Given the description of an element on the screen output the (x, y) to click on. 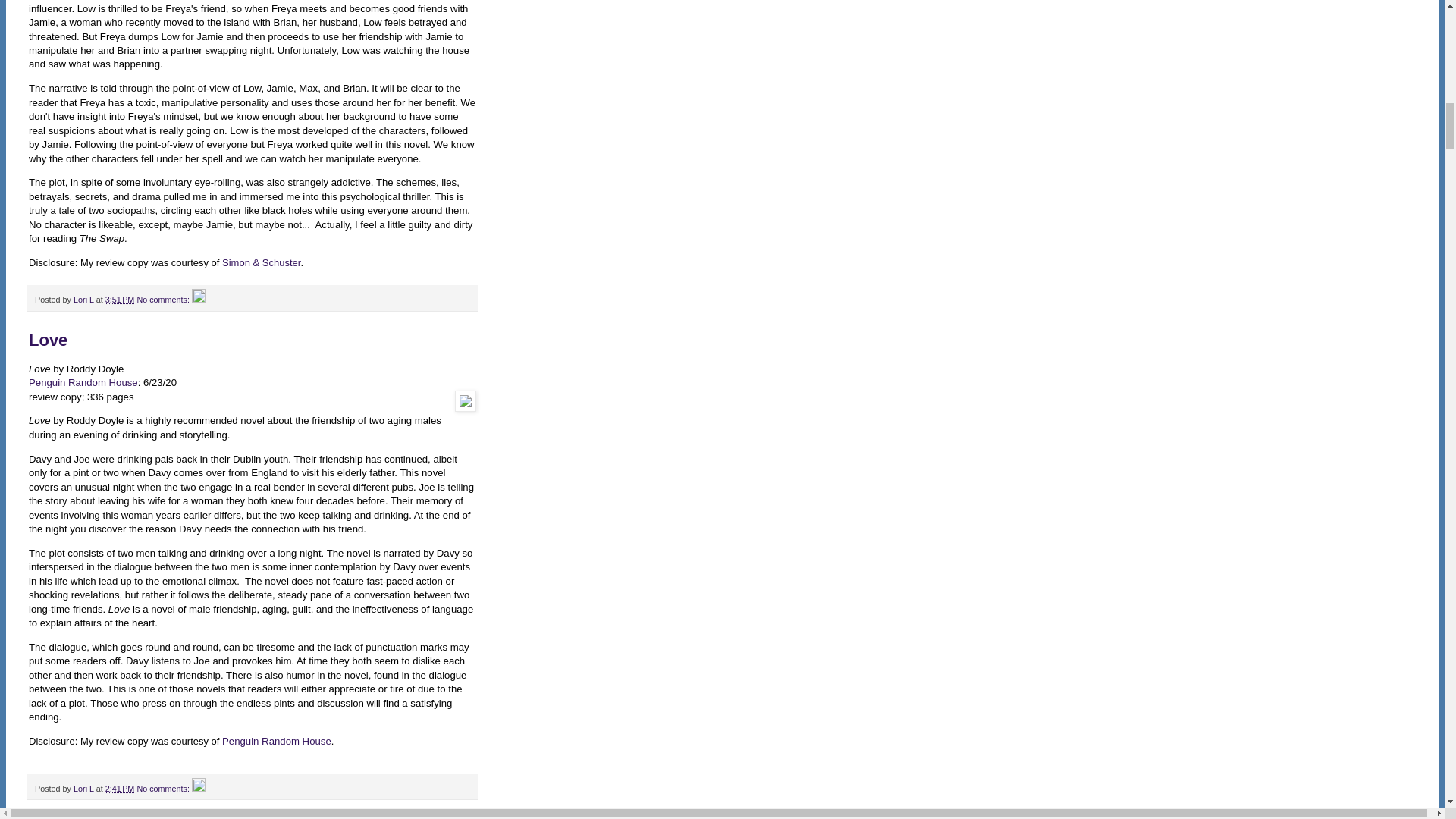
No comments: (164, 788)
Edit Post (198, 788)
Lori L (85, 788)
author profile (85, 298)
No comments: (164, 298)
Love (47, 339)
Penguin Random House (276, 740)
permanent link (119, 298)
author profile (85, 788)
permanent link (119, 788)
Edit Post (198, 298)
Lori L (85, 298)
Penguin Random House (83, 382)
